Given the description of an element on the screen output the (x, y) to click on. 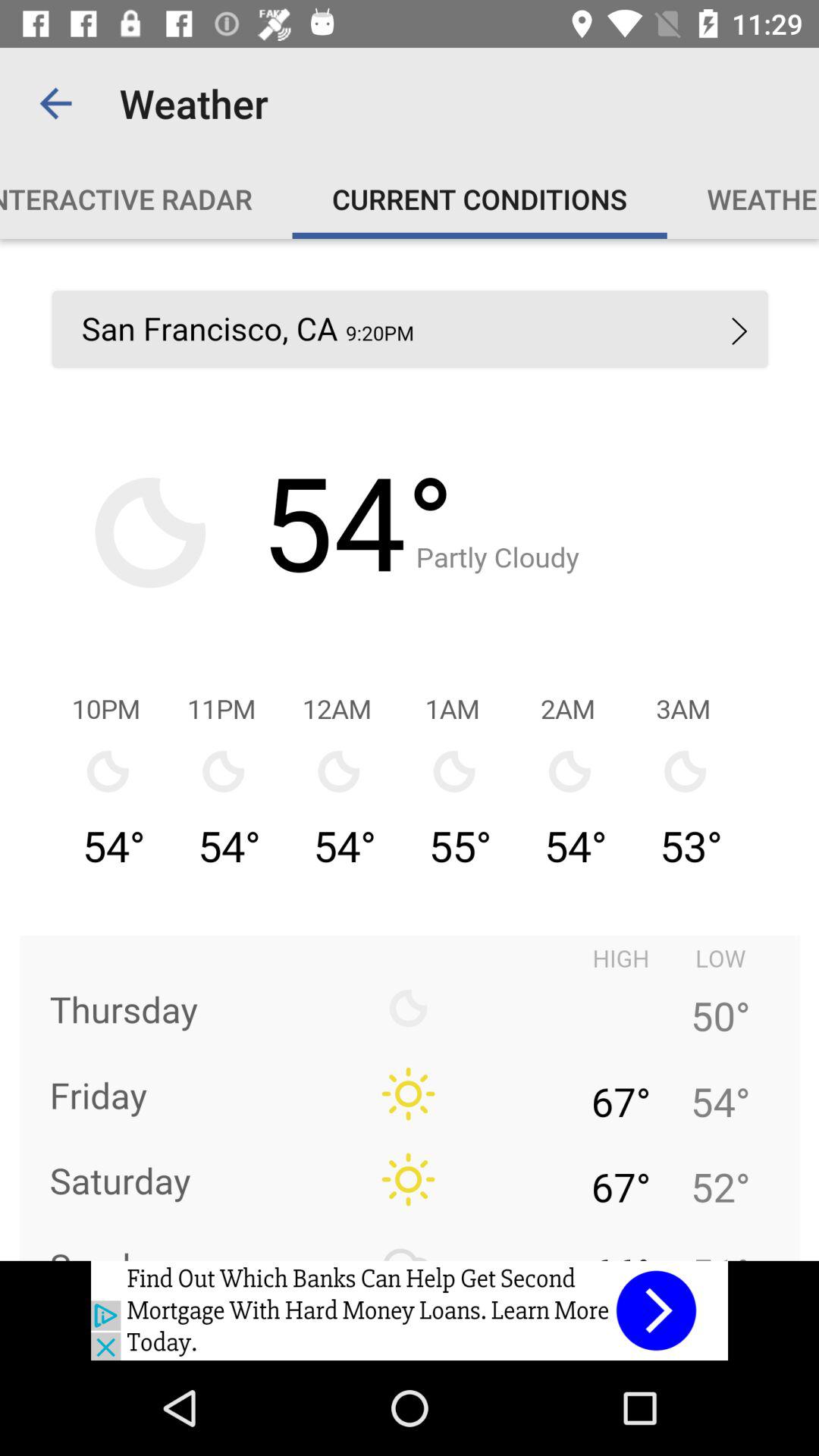
select the screenshot (409, 749)
